Given the description of an element on the screen output the (x, y) to click on. 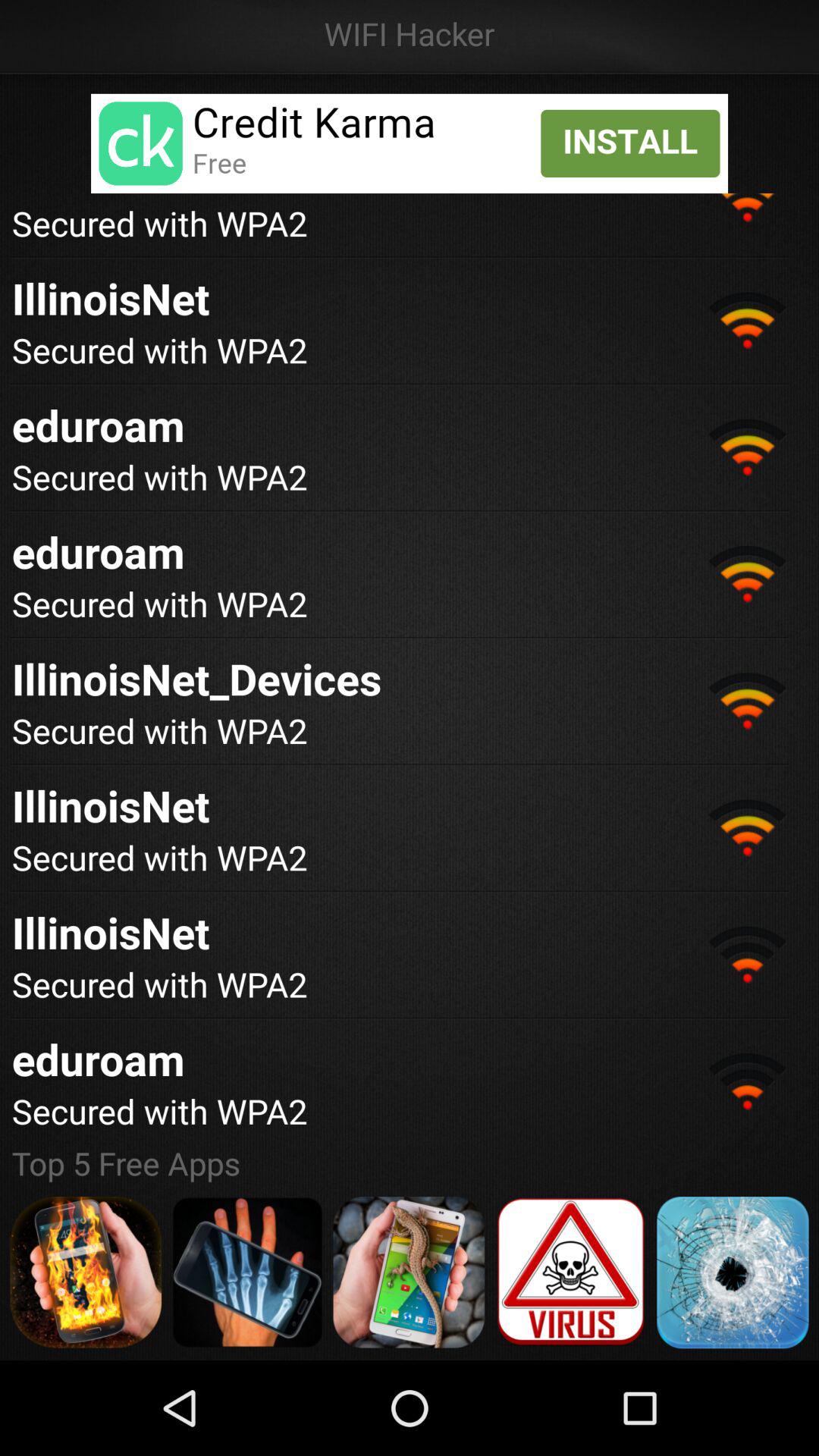
advertisement page (247, 1271)
